Given the description of an element on the screen output the (x, y) to click on. 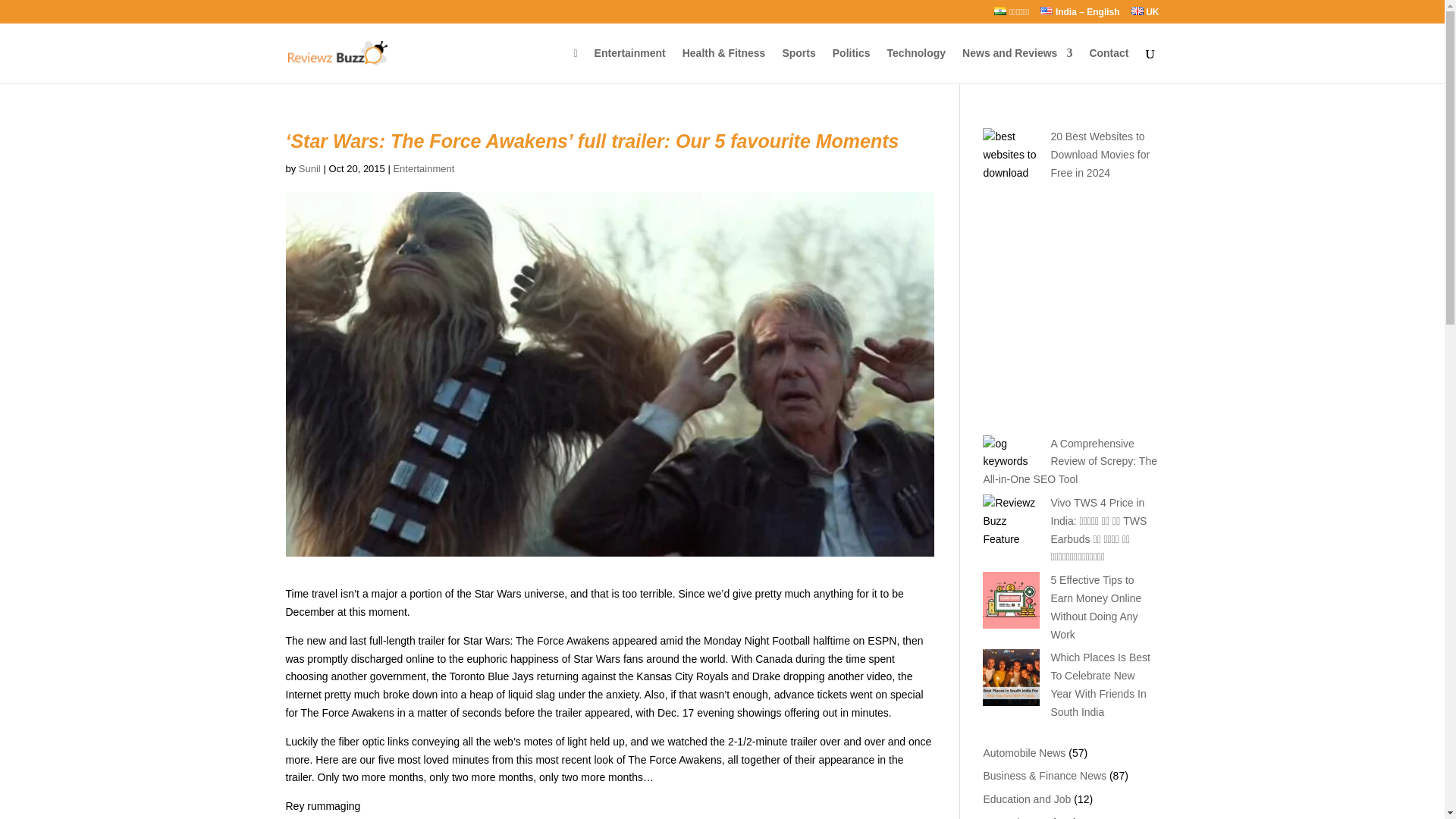
5 Effective Tips to Earn Money Online Without Doing Any Work (1095, 606)
Entertainment (629, 65)
UK (1144, 14)
Sunil (309, 168)
Contact (1108, 65)
Education and Job (1026, 799)
A Comprehensive Review of Screpy: The All-in-One SEO Tool (1069, 461)
20 Best Websites to Download Movies for Free in 2024 (1099, 154)
Technology (916, 65)
Automobile News (1023, 752)
Sports (798, 65)
Entertainment (1015, 817)
News and Reviews (1016, 65)
Posts by Sunil (309, 168)
